Given the description of an element on the screen output the (x, y) to click on. 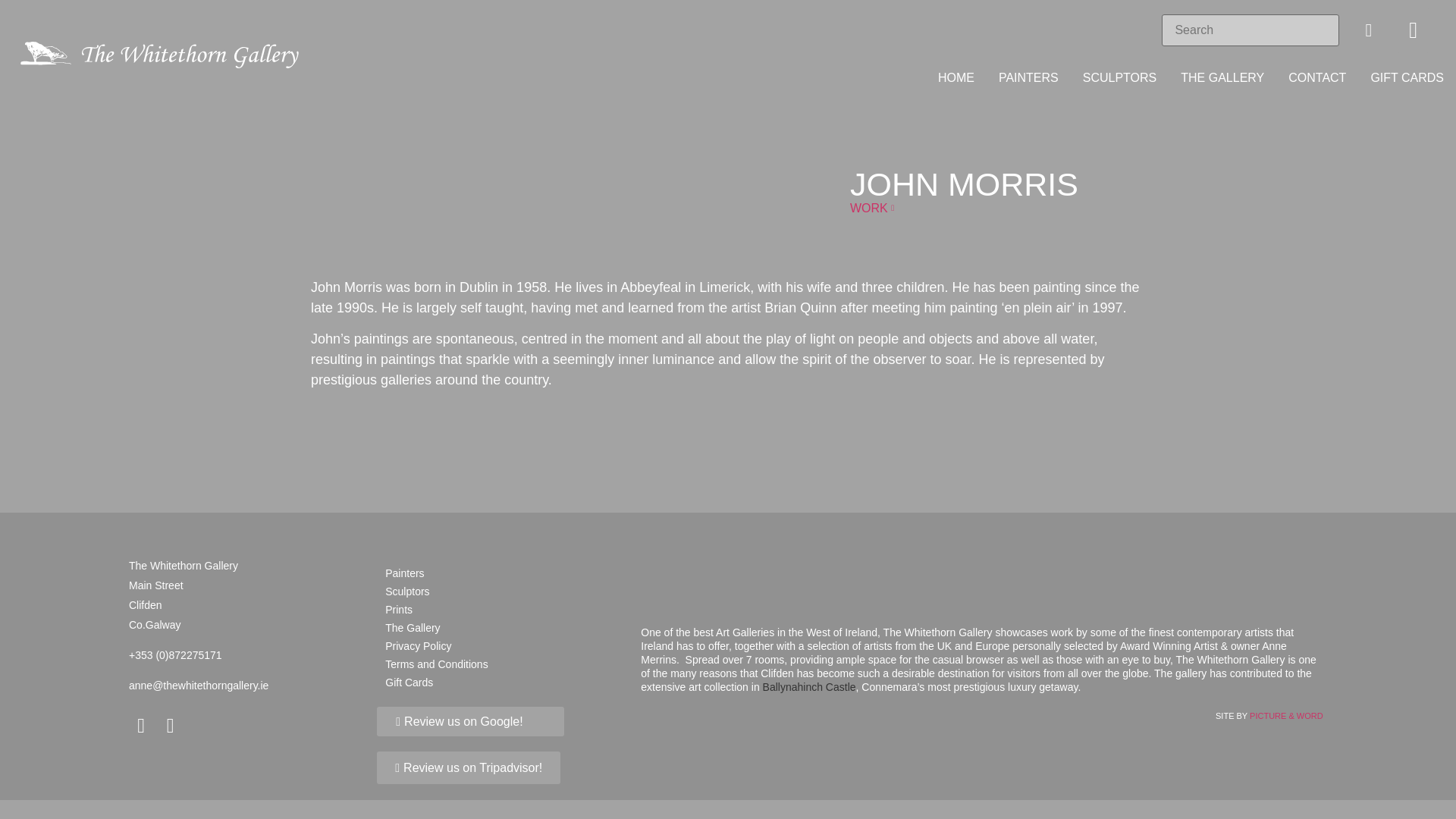
Terms and Conditions (497, 664)
CONTACT (1317, 77)
PAINTERS (1028, 77)
Privacy Policy (497, 646)
SCULPTORS (1119, 77)
WORK (871, 207)
HOME (956, 77)
Painters (497, 573)
THE GALLERY (1222, 77)
Sculptors (497, 591)
